Given the description of an element on the screen output the (x, y) to click on. 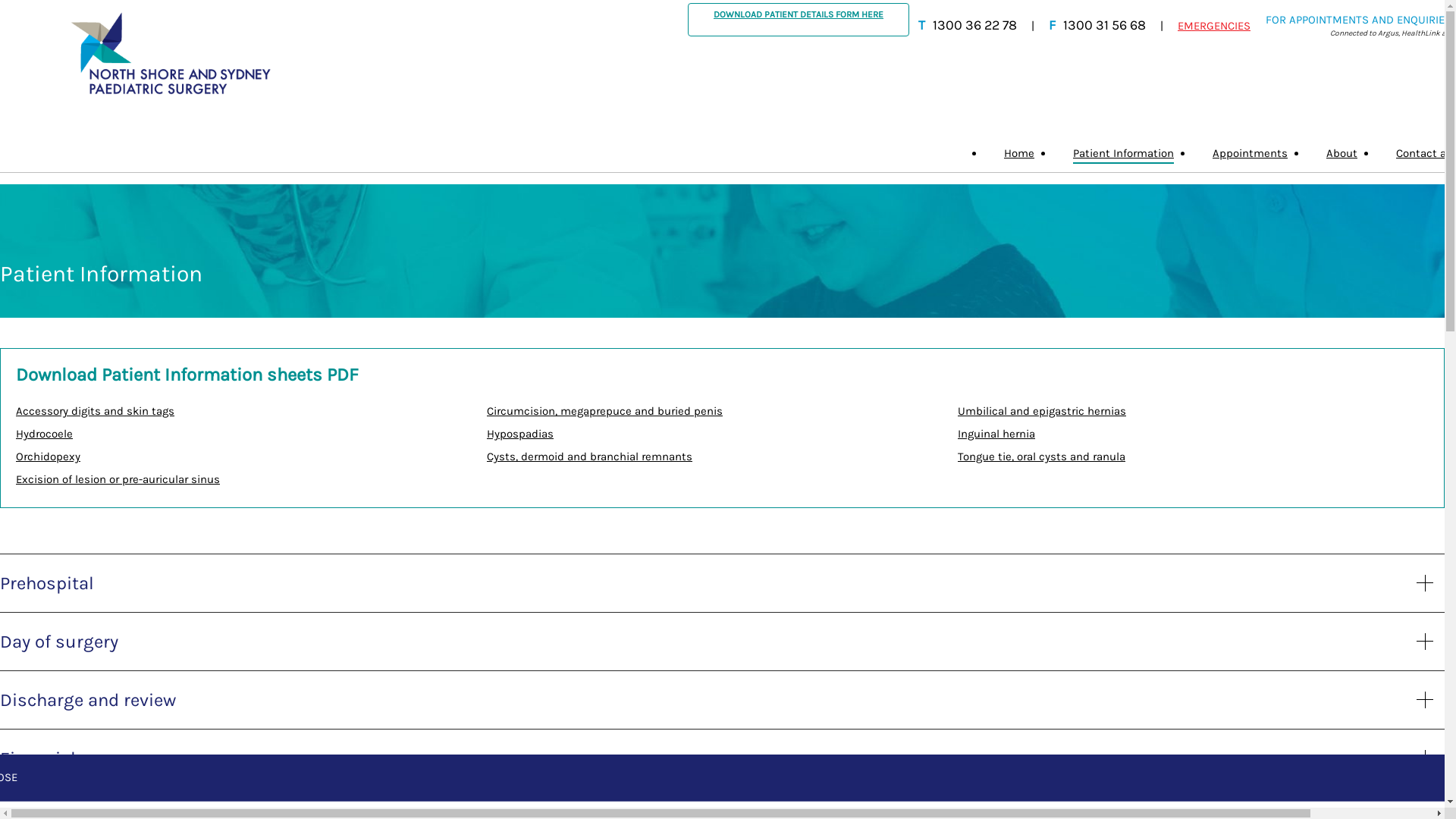
DOWNLOAD PATIENT DETAILS FORM HERE Element type: text (798, 19)
Circumcision, megaprepuce and buried penis Element type: text (604, 410)
Home Element type: text (1019, 153)
Inguinal hernia Element type: text (996, 433)
About Element type: text (1341, 153)
Tongue tie, oral cysts and ranula Element type: text (1041, 456)
Patient Information Element type: text (1123, 153)
Hypospadias Element type: text (519, 433)
Appointments Element type: text (1249, 153)
EMERGENCIES Element type: text (1213, 25)
Umbilical and epigastric hernias Element type: text (1041, 410)
Cysts, dermoid and branchial remnants Element type: text (589, 456)
Accessory digits and skin tags Element type: text (94, 410)
Orchidopexy Element type: text (47, 456)
Hydrocoele Element type: text (43, 433)
Excision of lesion or pre-auricular sinus Element type: text (117, 479)
